Given the description of an element on the screen output the (x, y) to click on. 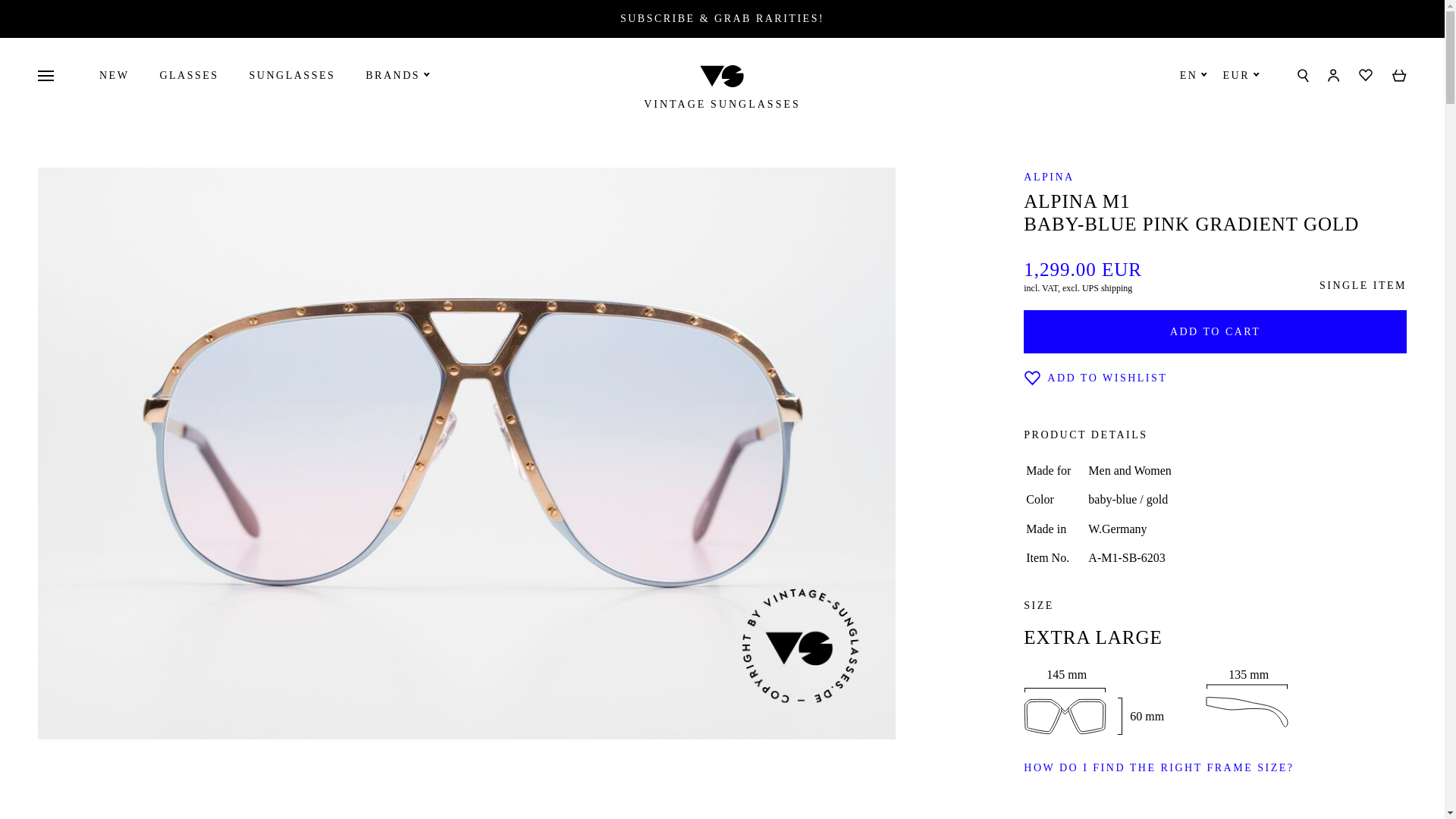
To homepage (722, 74)
Sunglasses (292, 75)
incl. VAT, excl. UPS shipping (1077, 287)
ADD TO WISHLIST (1095, 377)
Glasses (188, 75)
ADD TO CART (1214, 331)
ALPINA (1048, 176)
Add to wishlist (1095, 377)
New acquired vintage glasses of the last two weeks (114, 75)
SUNGLASSES (292, 75)
To homepage (721, 104)
Add to cart (1214, 331)
GLASSES (188, 75)
NEW (114, 75)
HOW DO I FIND THE RIGHT FRAME SIZE? (1158, 767)
